Given the description of an element on the screen output the (x, y) to click on. 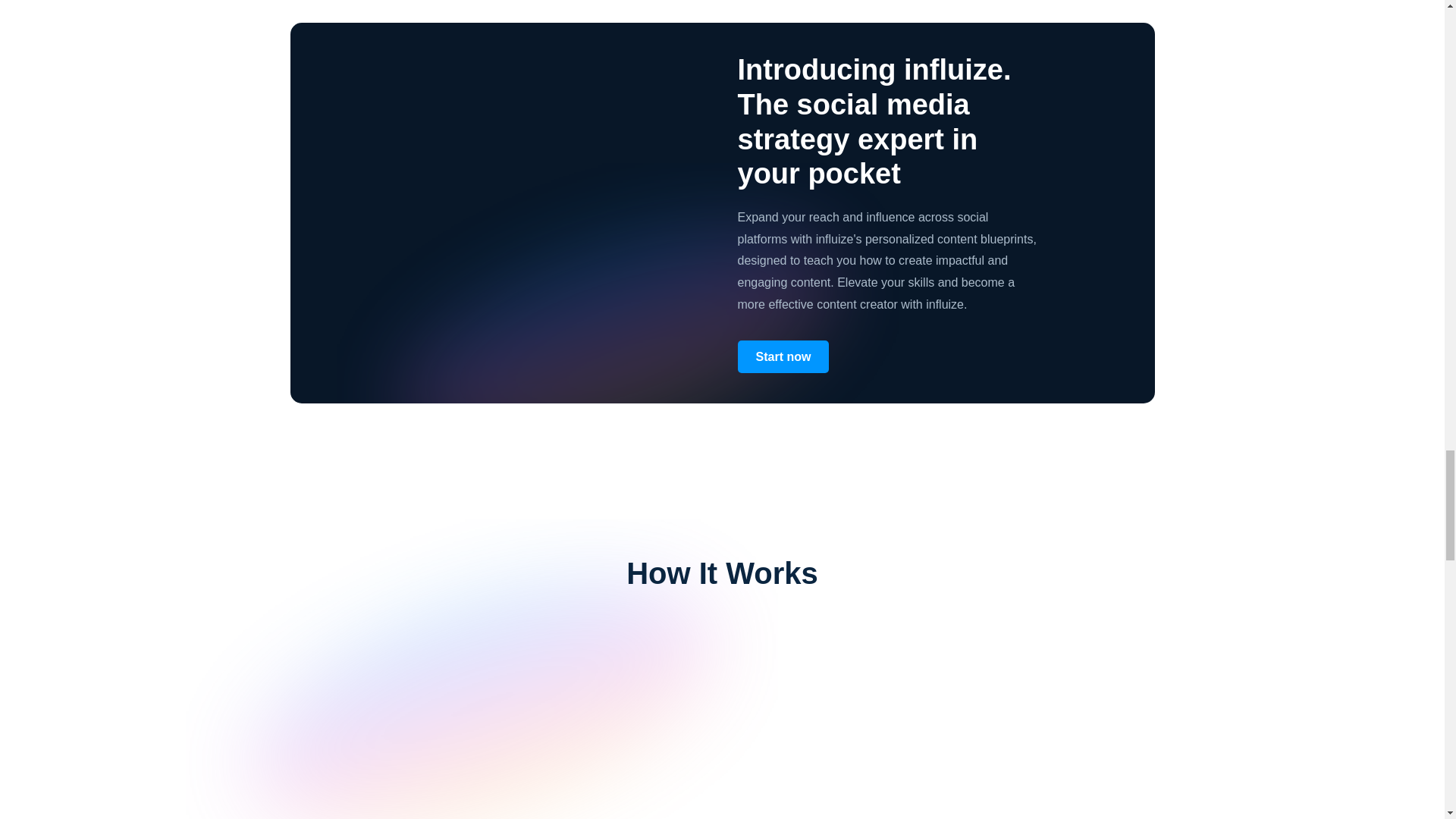
Start now (782, 356)
